Given the description of an element on the screen output the (x, y) to click on. 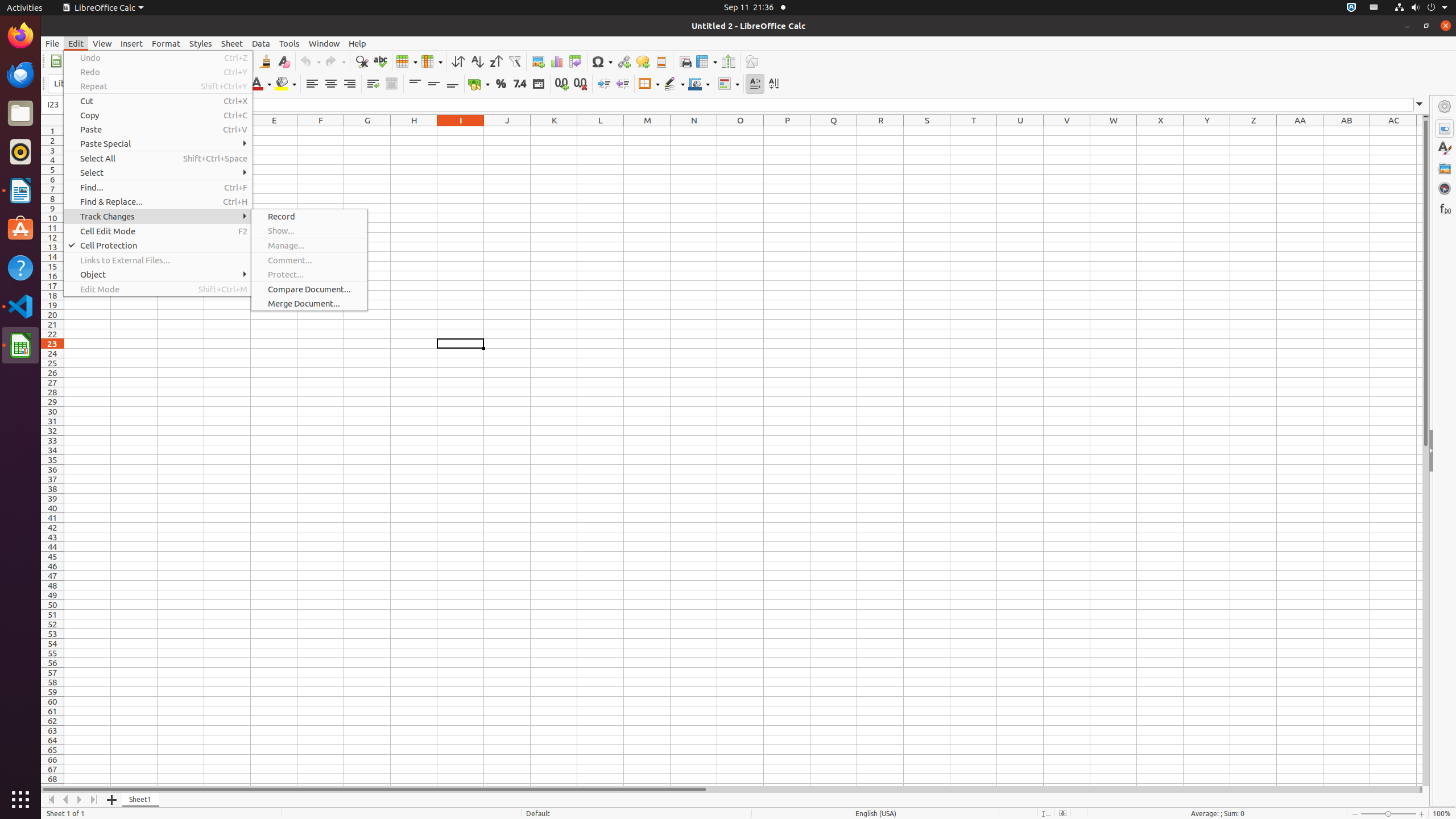
Print Area Element type: push-button (684, 61)
Sort Descending Element type: push-button (495, 61)
W1 Element type: table-cell (1113, 130)
Merge and Center Cells Element type: push-button (391, 83)
Links to External Files... Element type: menu-item (157, 260)
